Given the description of an element on the screen output the (x, y) to click on. 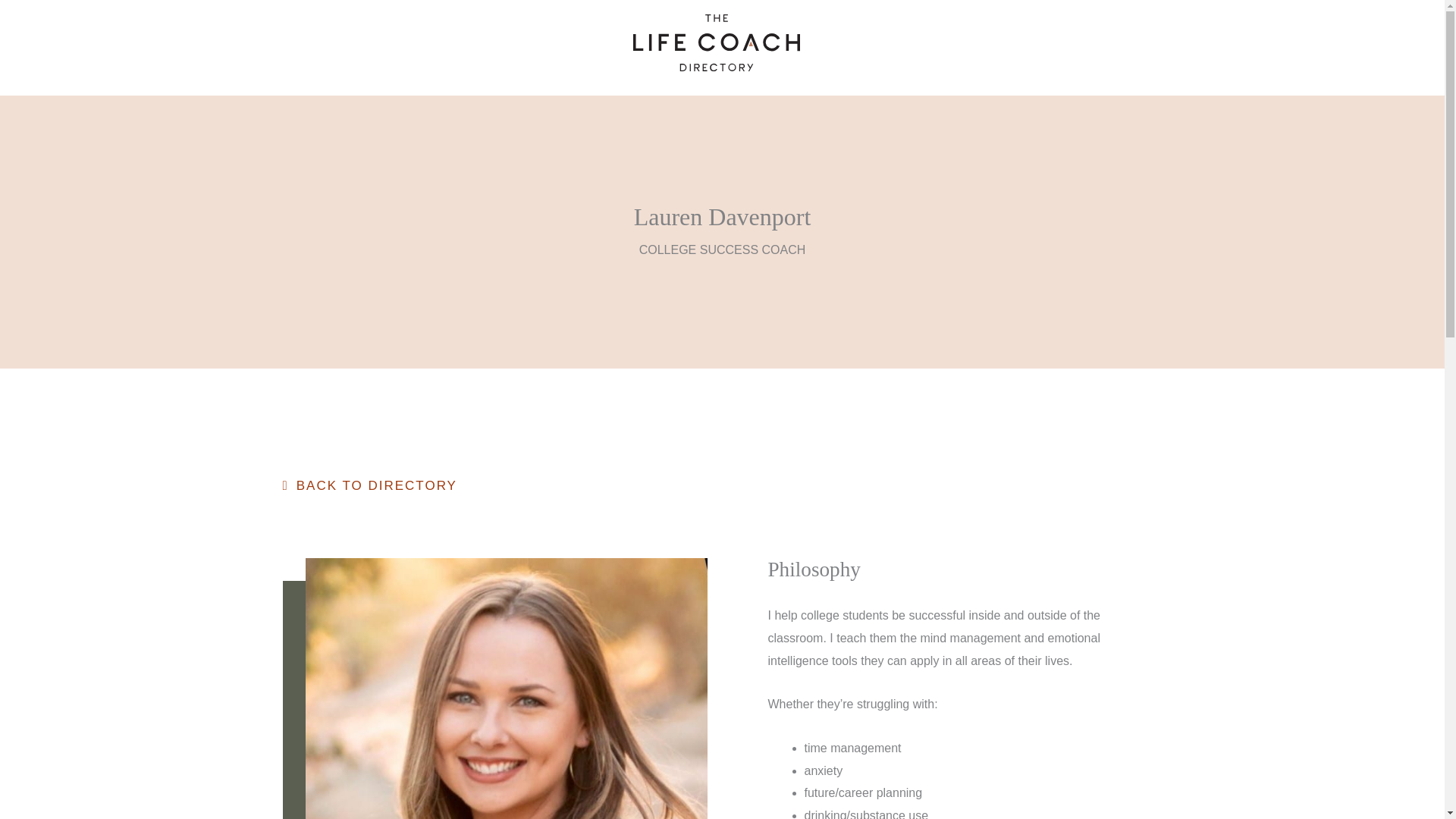
BACK TO DIRECTORY (369, 485)
